Given the description of an element on the screen output the (x, y) to click on. 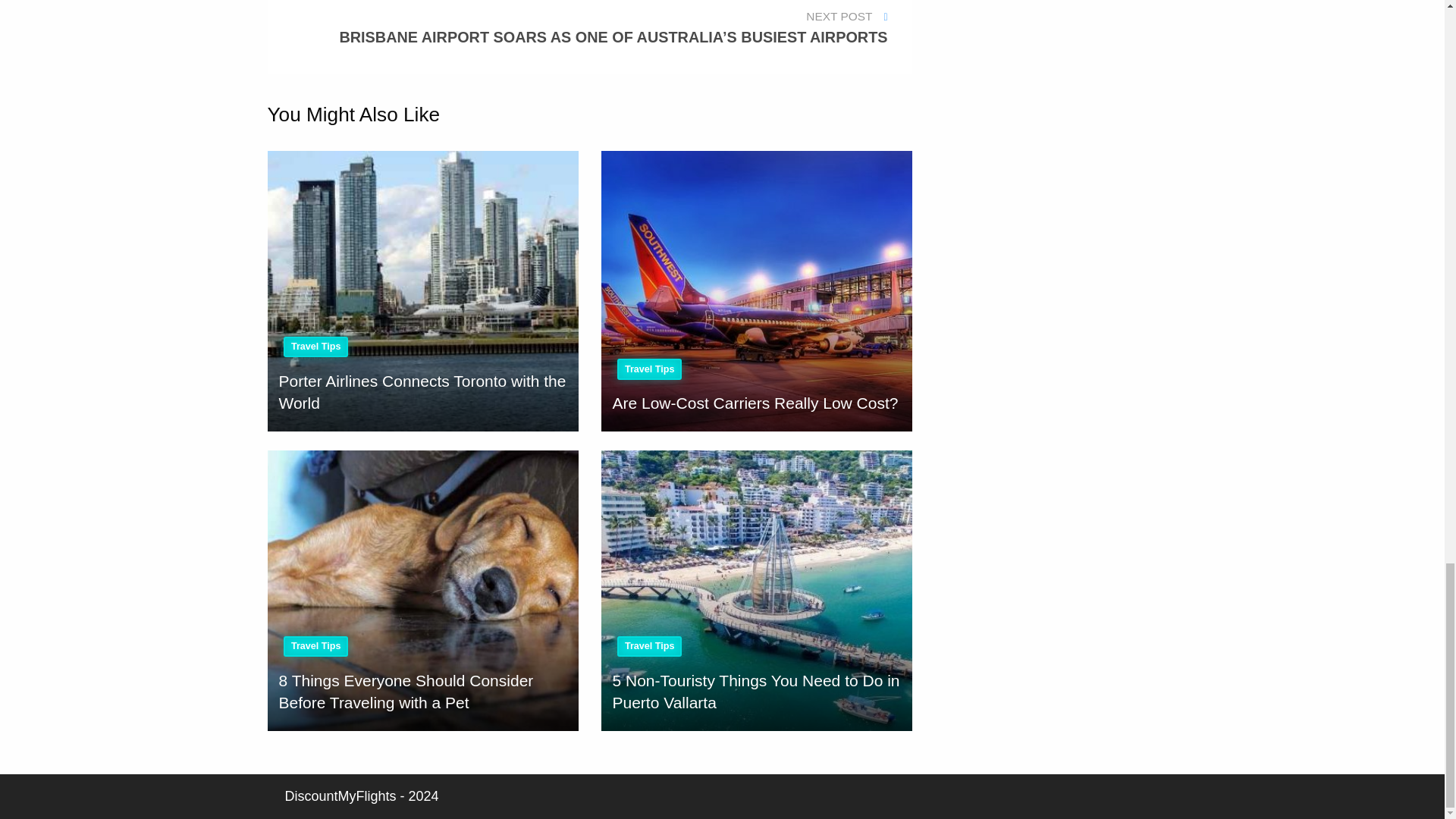
Are Low-Cost Carriers Really Low Cost? (755, 290)
Porter Airlines Connects Toronto with the World (422, 290)
5 Non-Touristy Things You Need to Do in Puerto Vallarta (755, 589)
